Given the description of an element on the screen output the (x, y) to click on. 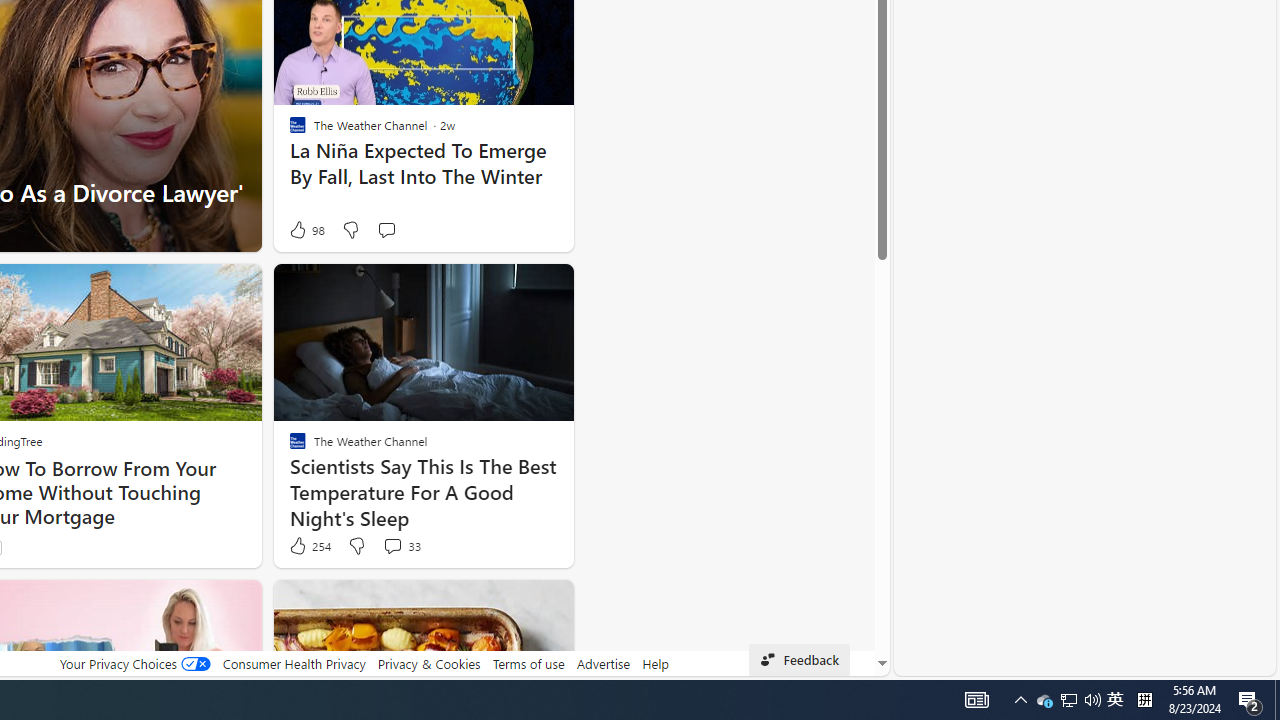
Your Privacy Choices (134, 663)
Hide this story (512, 603)
